Given the description of an element on the screen output the (x, y) to click on. 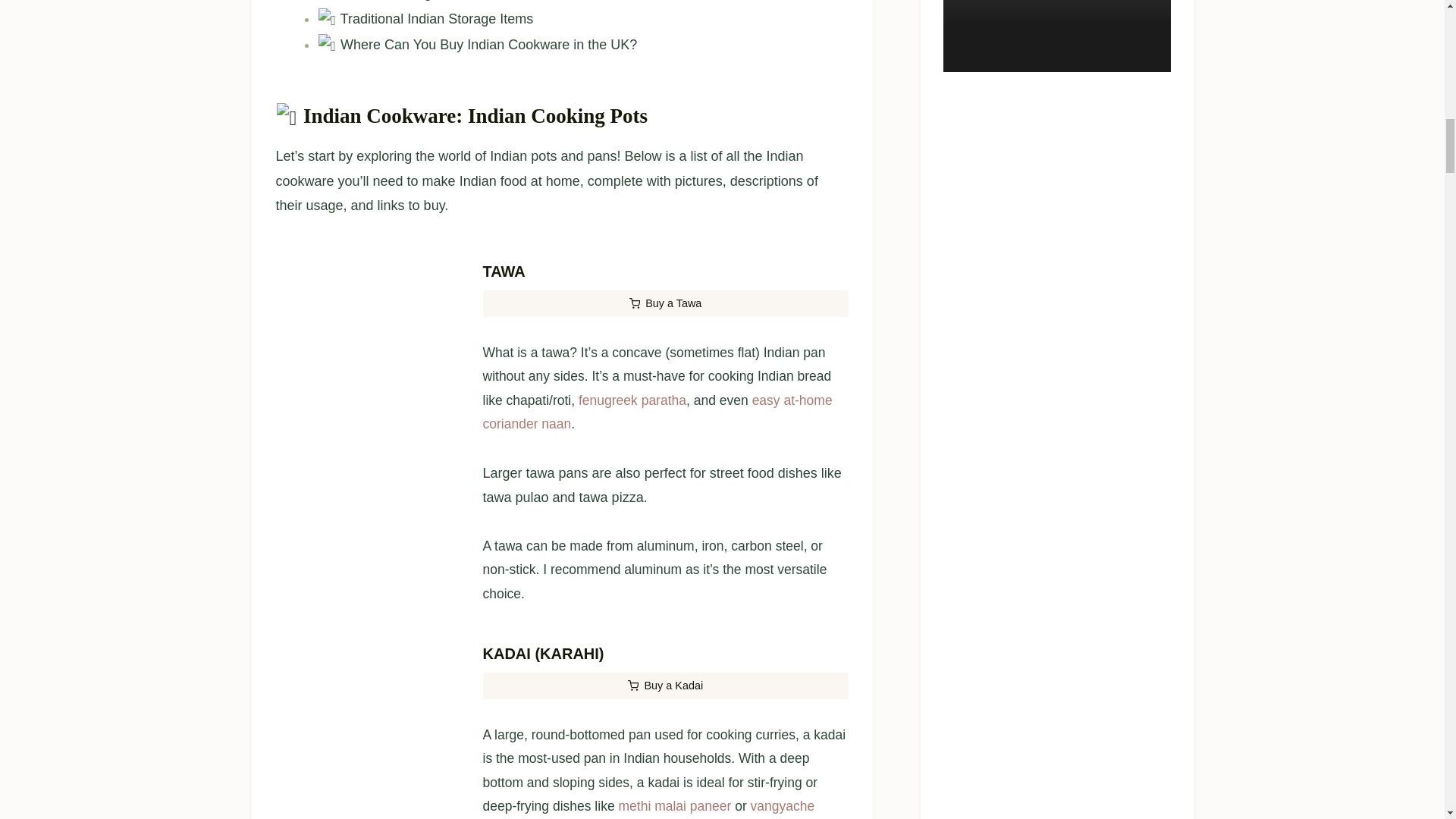
easy at-home coriander naan (656, 546)
Buy a Tawa (664, 438)
fenugreek paratha (631, 534)
Buy a Kadai (664, 812)
